Given the description of an element on the screen output the (x, y) to click on. 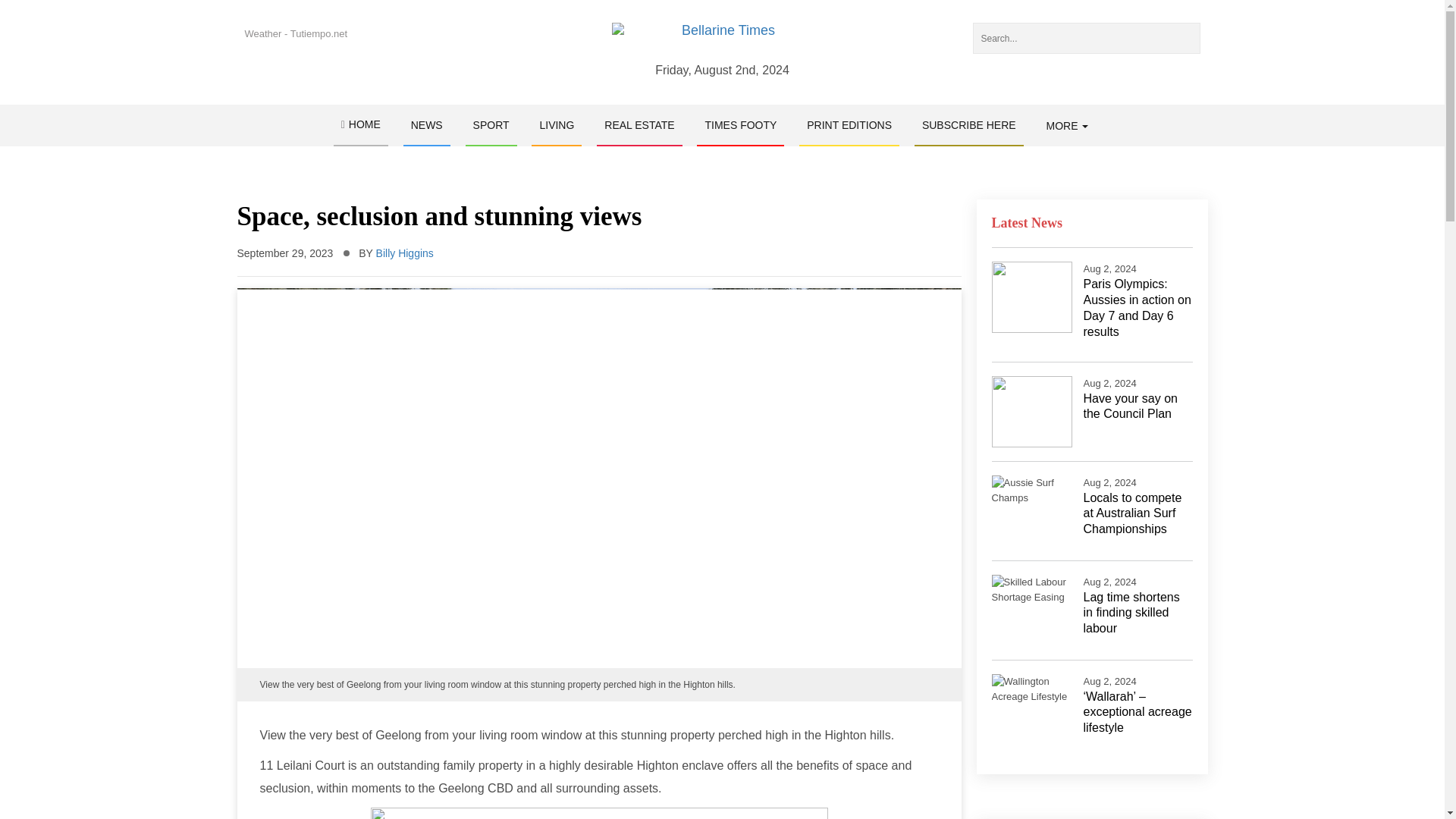
HOME (360, 125)
PRINT EDITIONS (849, 124)
submit (1184, 37)
LIVING (555, 124)
SPORT (490, 124)
REAL ESTATE (638, 124)
SUBSCRIBE HERE (968, 124)
MORE (1067, 125)
TIMES FOOTY (740, 124)
submit (1184, 37)
NEWS (426, 124)
